Given the description of an element on the screen output the (x, y) to click on. 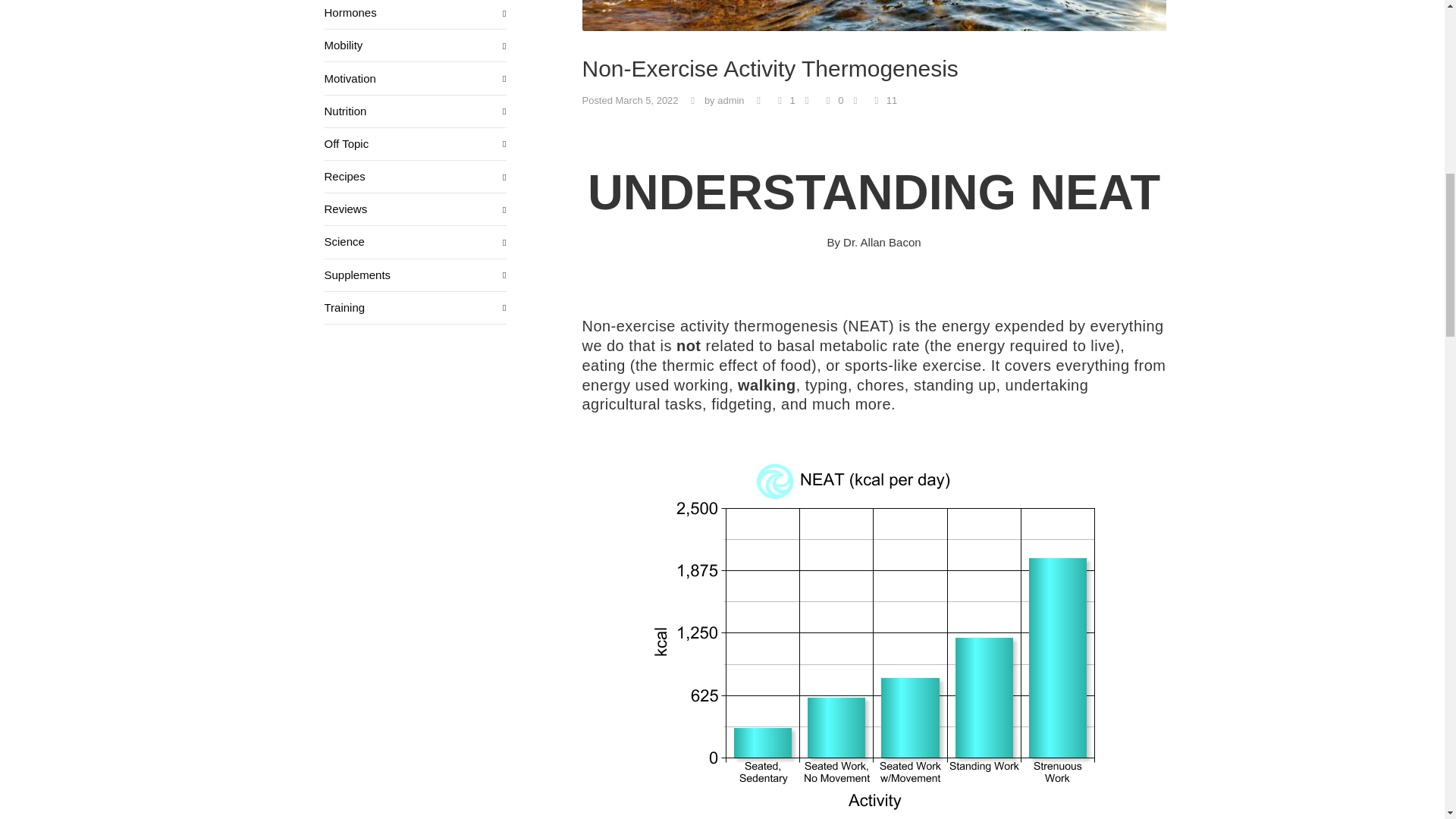
admin (730, 100)
11 (883, 101)
Views - 1 (795, 101)
March 5, 2022 (646, 100)
0 (843, 101)
Like (883, 101)
Comments - 0 (843, 101)
Non-Exercise Activity Thermogenesis (874, 15)
